Given the description of an element on the screen output the (x, y) to click on. 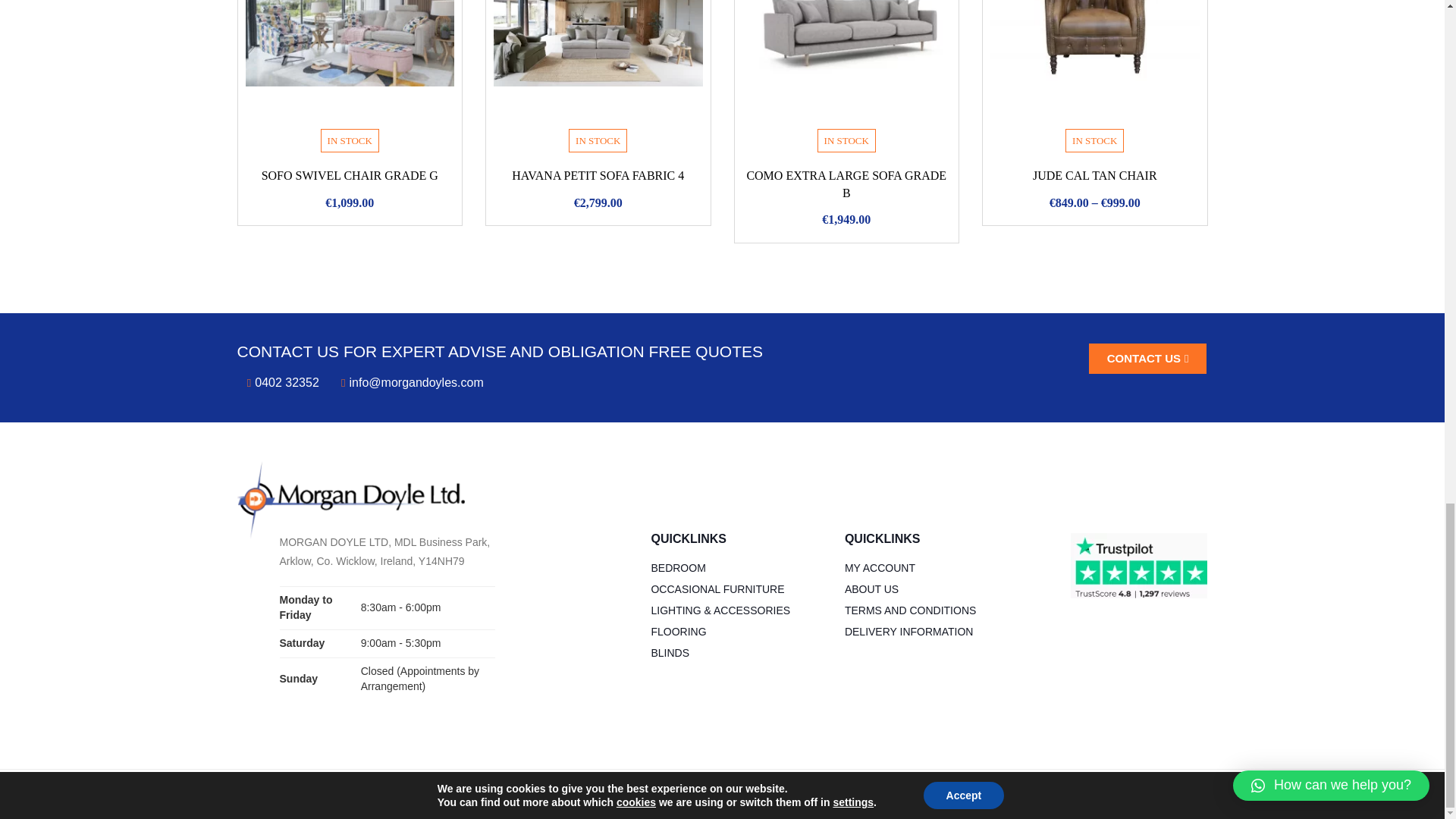
Como Extra Large Sofa Grade B (845, 60)
Jude Cal Tan Chair (1094, 60)
Havana Petit Sofa Fabric 4 (598, 60)
SoFo Swivel Chair Grade G (350, 60)
